Given the description of an element on the screen output the (x, y) to click on. 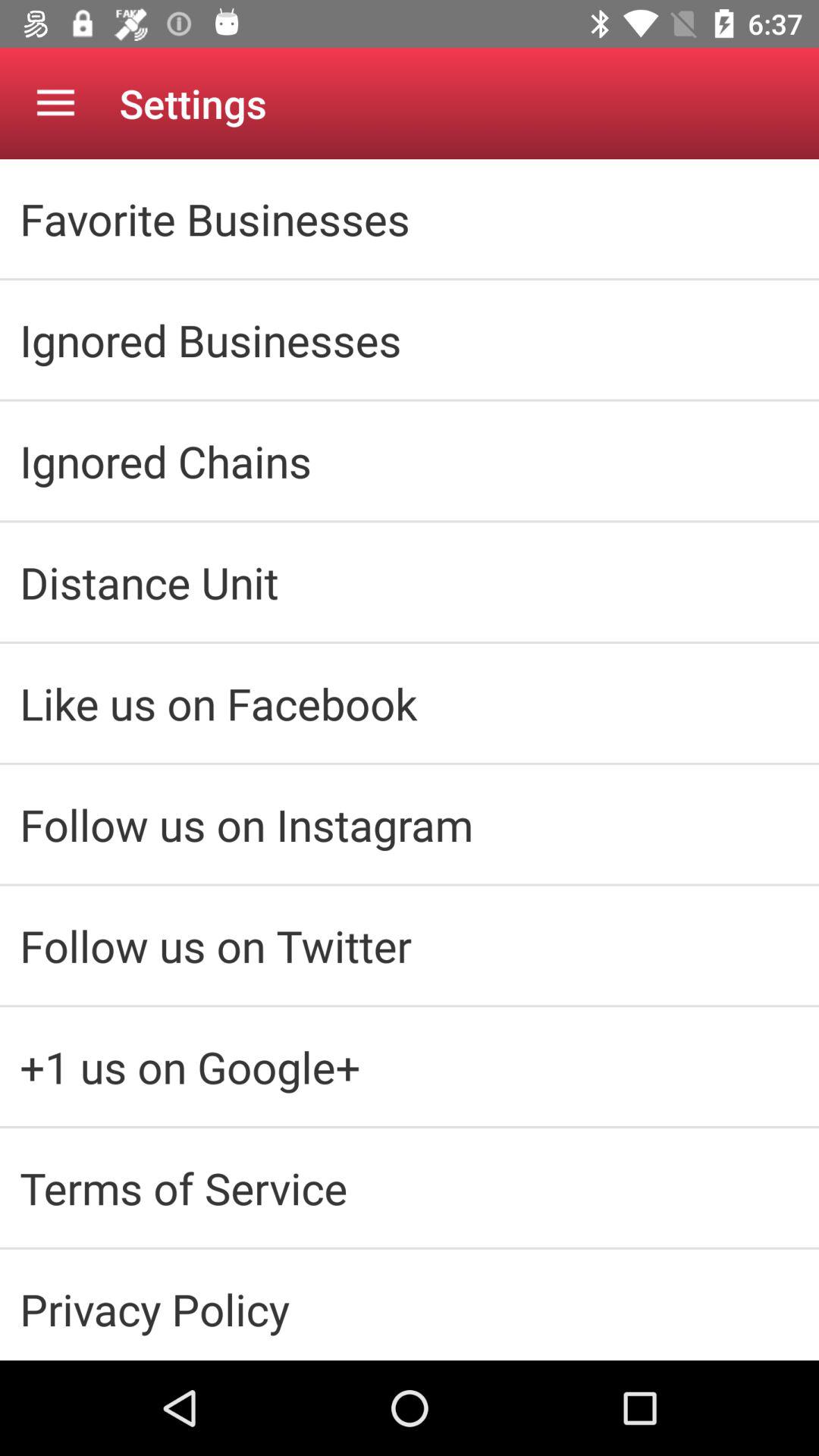
turn off ignored chains icon (409, 460)
